Given the description of an element on the screen output the (x, y) to click on. 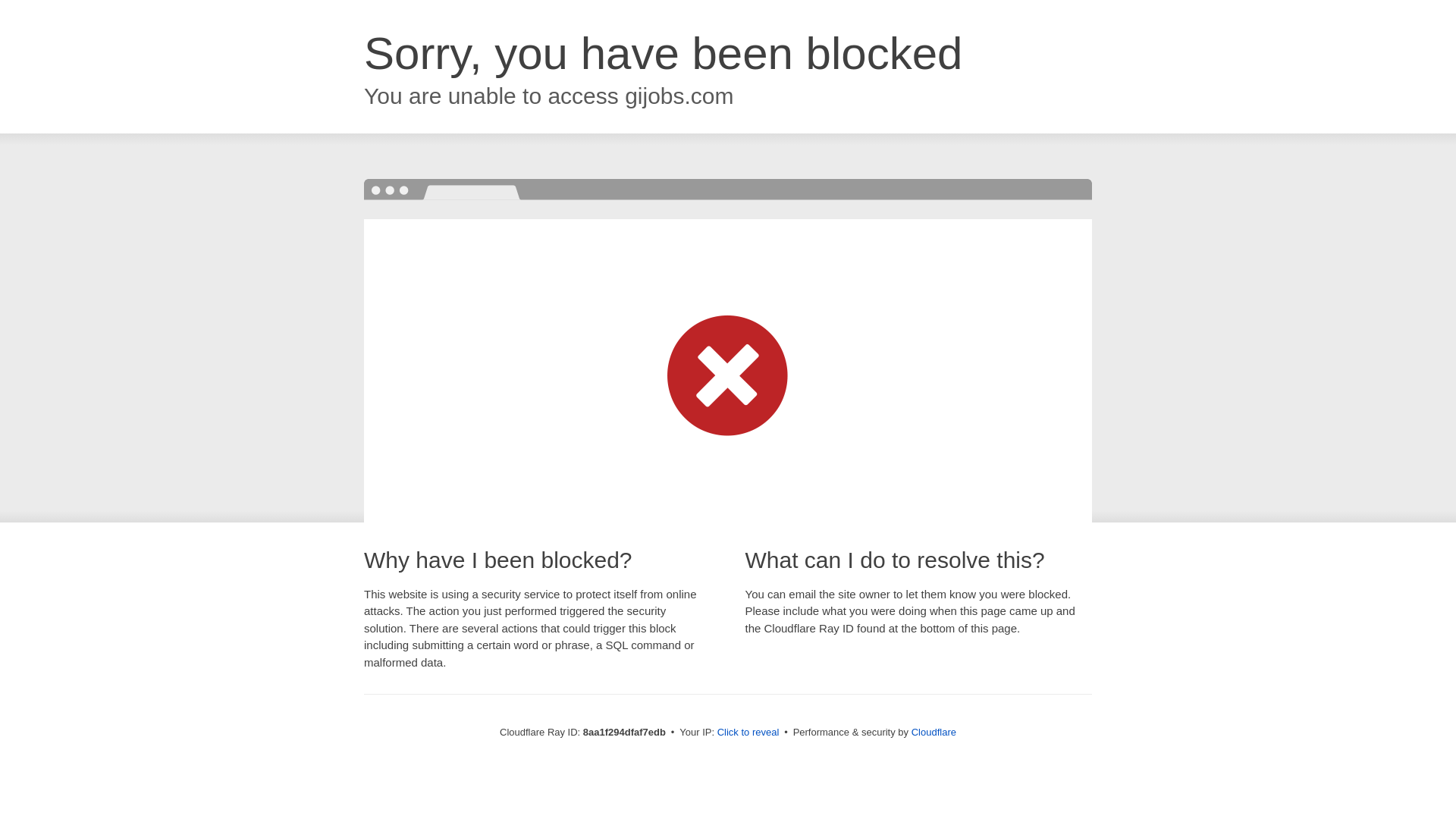
Cloudflare (933, 731)
Click to reveal (747, 732)
